Given the description of an element on the screen output the (x, y) to click on. 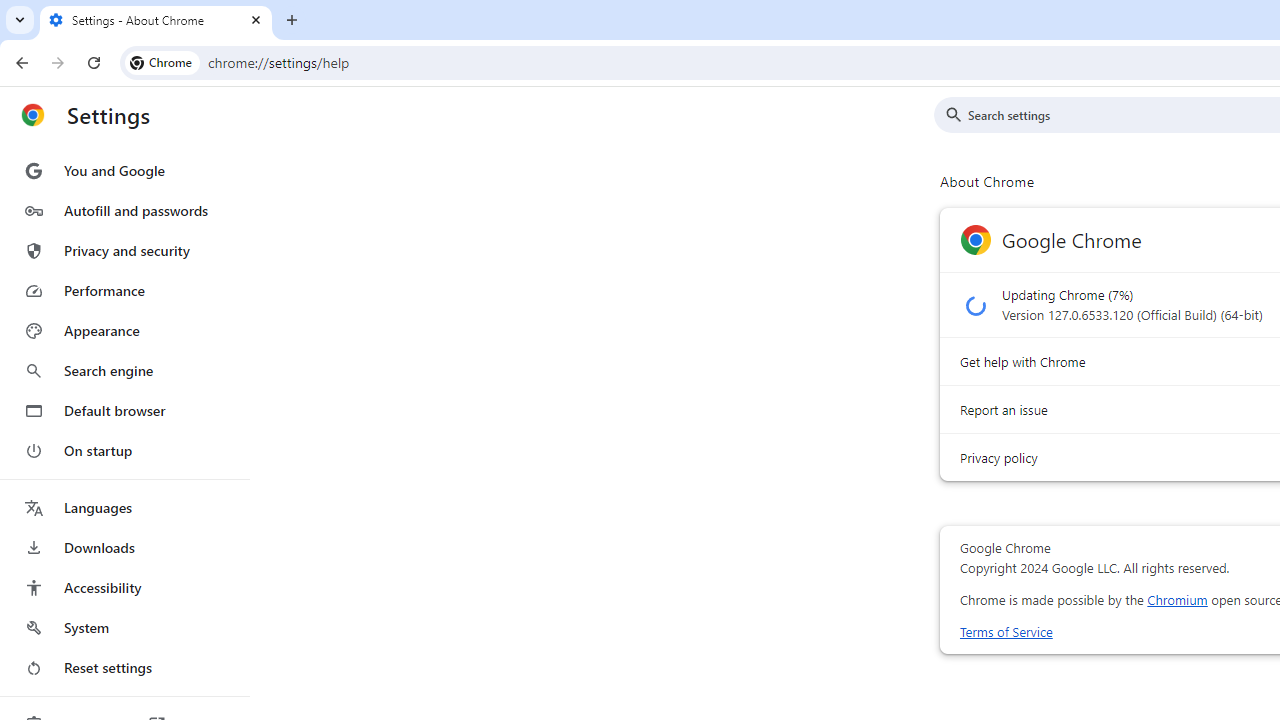
Settings - About Chrome (156, 20)
You and Google (124, 170)
Default browser (124, 410)
Reset settings (124, 668)
Chromium (1177, 600)
Search engine (124, 370)
Downloads (124, 547)
